Given the description of an element on the screen output the (x, y) to click on. 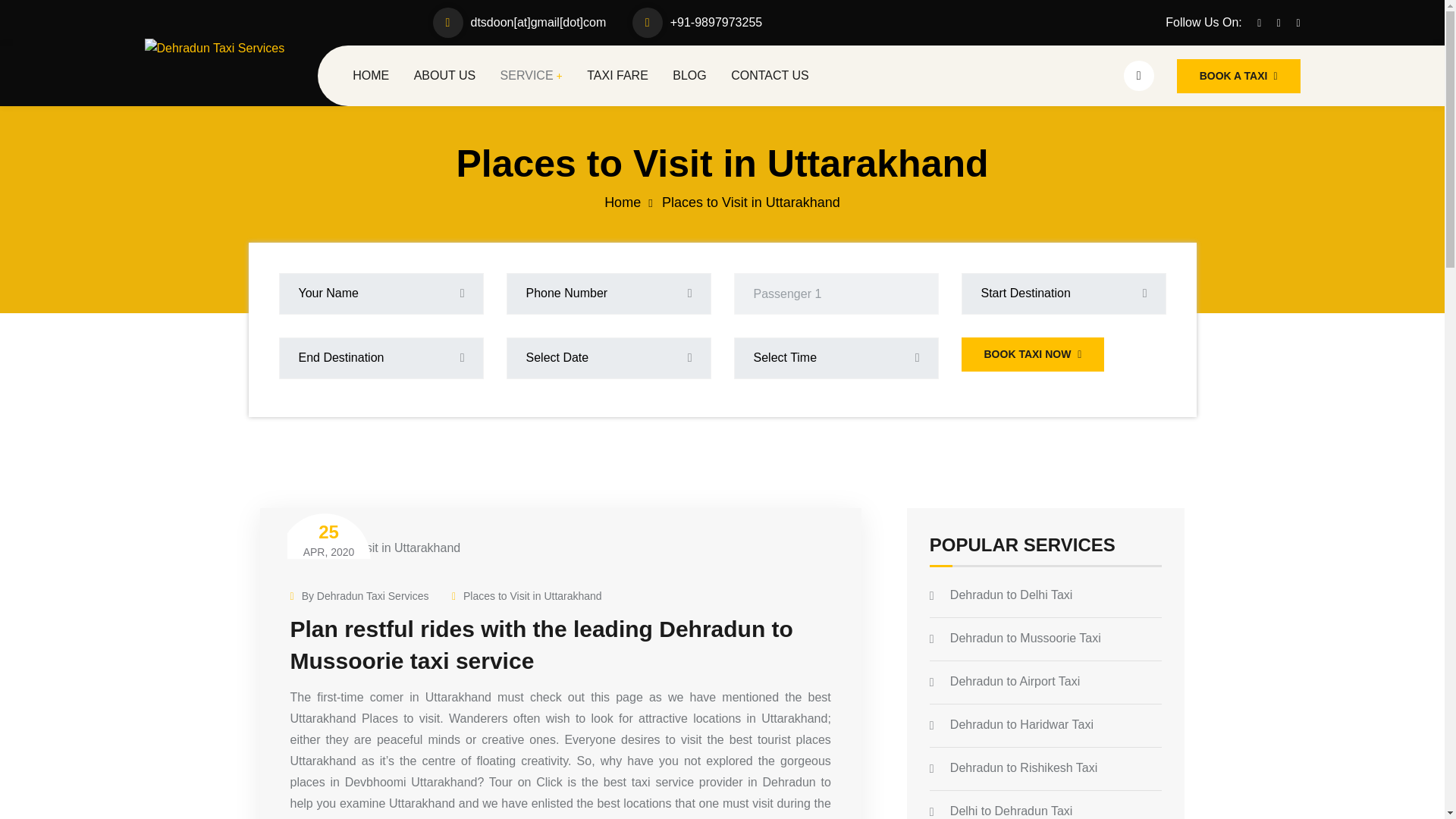
ABOUT US (444, 75)
Uttarakhand Places to visit (374, 547)
Home (622, 201)
SERVICE (531, 75)
Dehradun Taxi Services Logo (213, 48)
CONTACT US (327, 541)
BOOK A TAXI (769, 75)
TAXI FARE (1238, 75)
By Dehradun Taxi Services (616, 75)
BOOK TAXI NOW (358, 596)
